Given the description of an element on the screen output the (x, y) to click on. 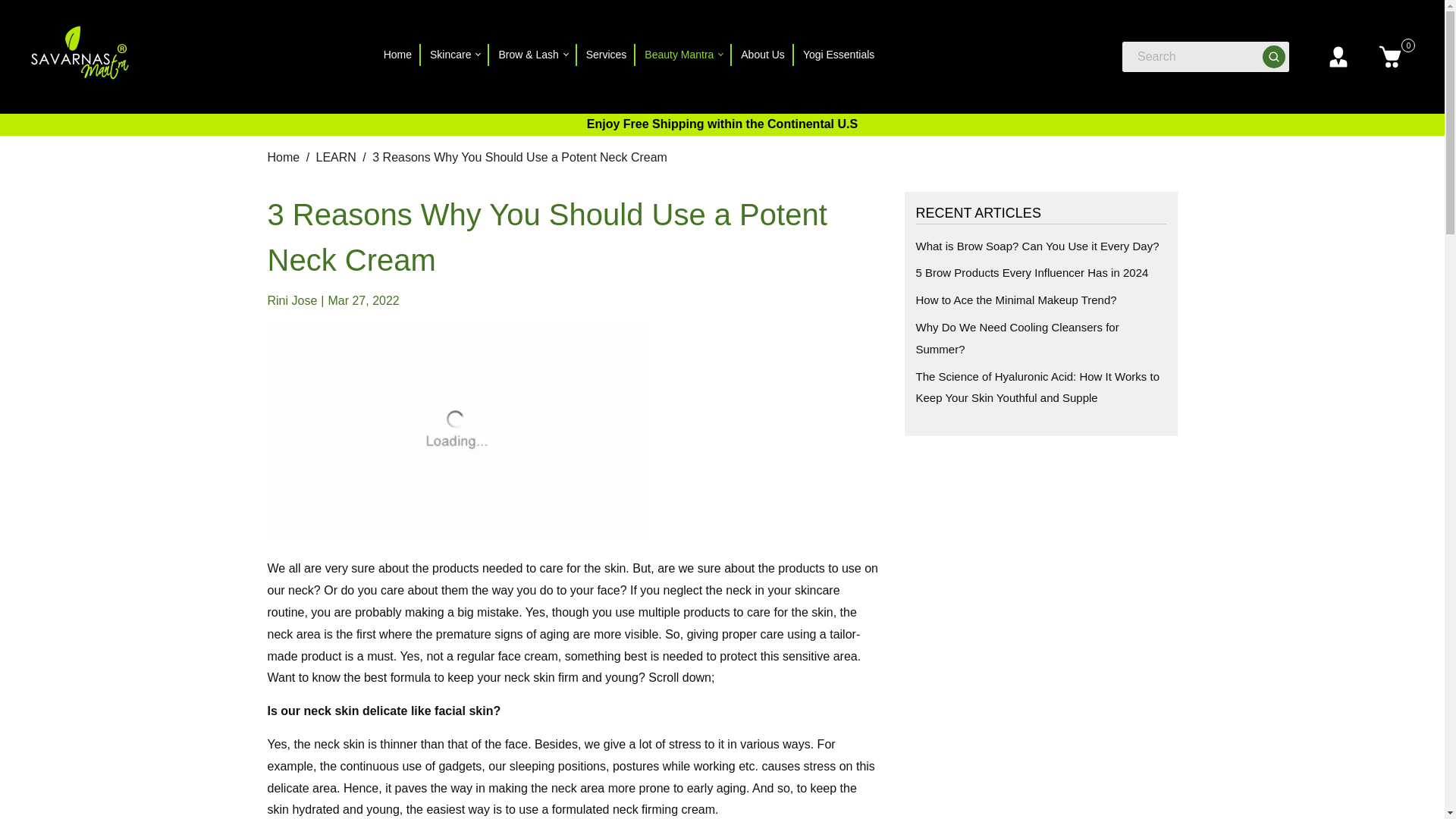
Back to the frontpage (283, 157)
Skincare (454, 55)
Services (606, 55)
Beauty Mantra (683, 55)
Home (397, 55)
Yogi Essentials (838, 55)
Sign In (1338, 56)
About Us (762, 55)
